Given the description of an element on the screen output the (x, y) to click on. 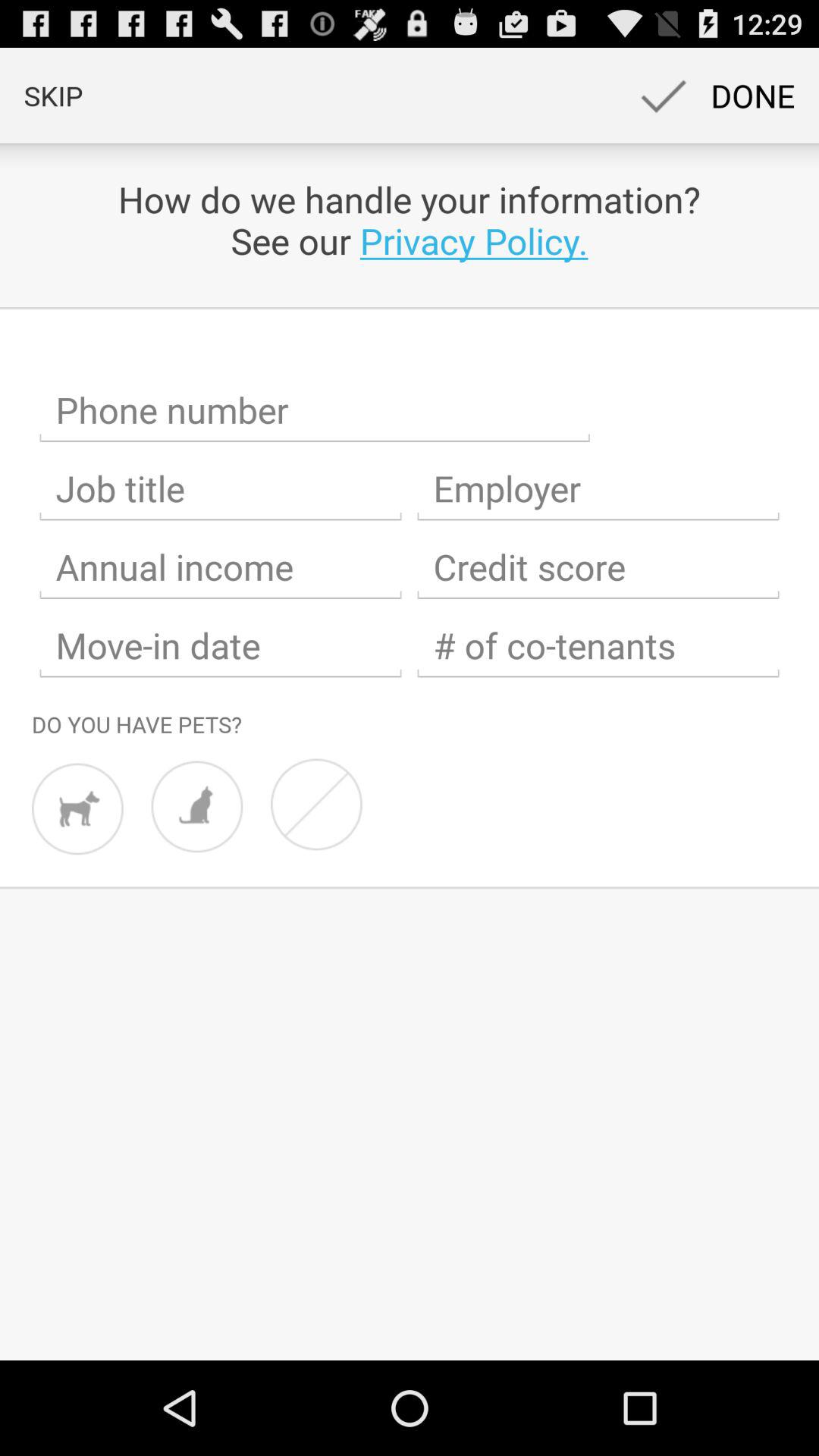
go to create annual income (220, 567)
